Given the description of an element on the screen output the (x, y) to click on. 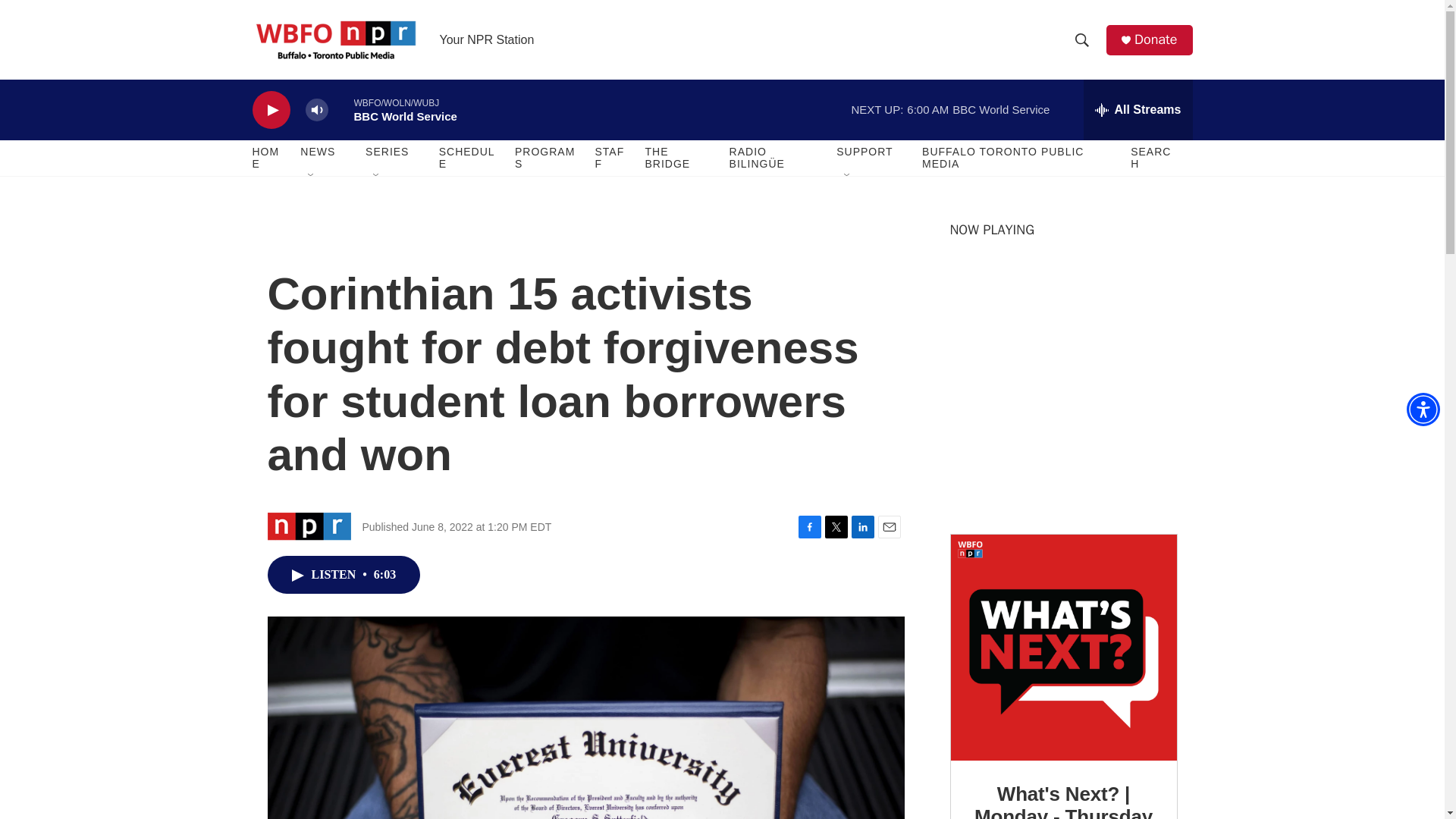
3rd party ad content (1062, 408)
Accessibility Menu (1422, 409)
